Given the description of an element on the screen output the (x, y) to click on. 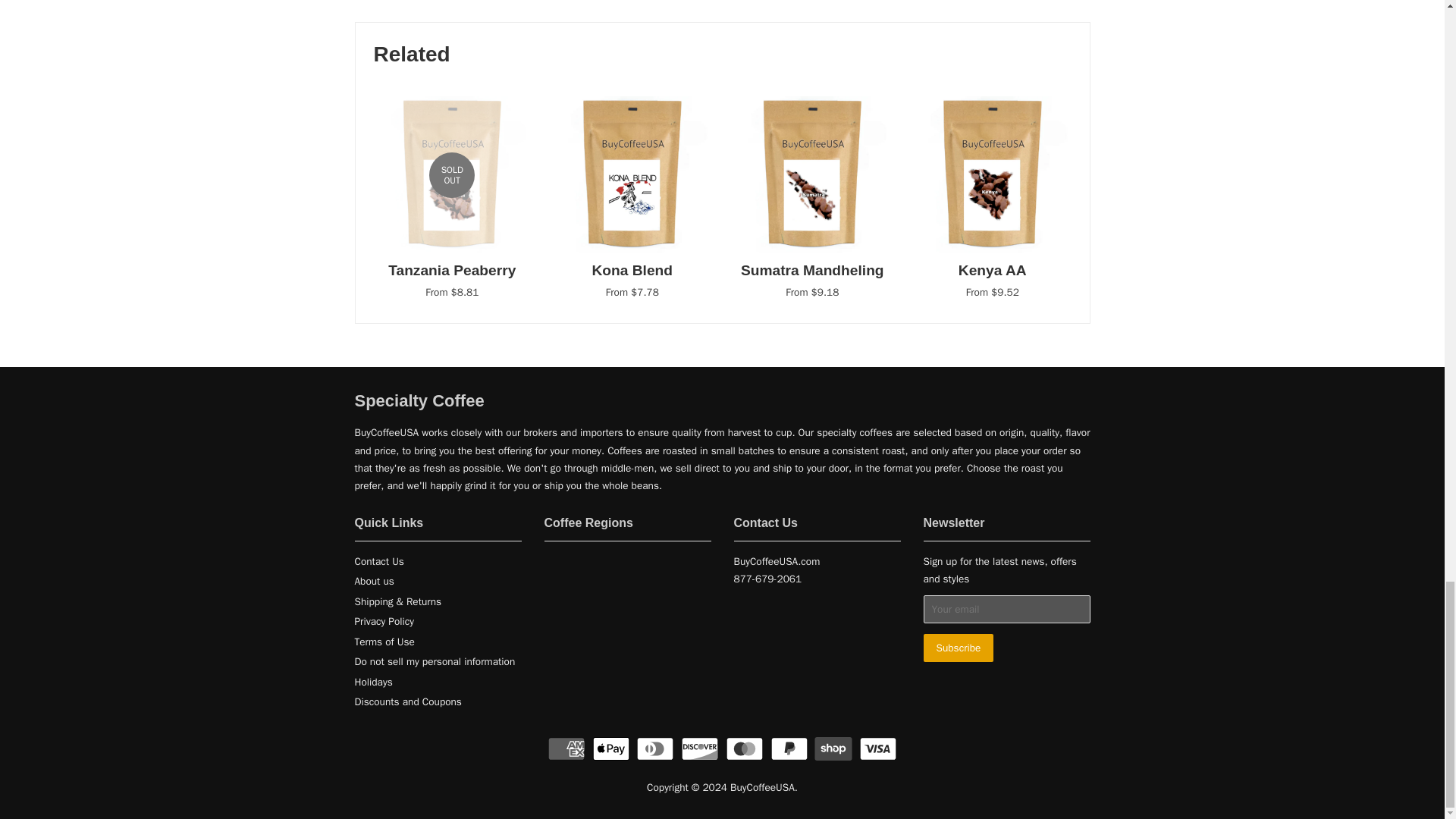
Subscribe (958, 647)
